Given the description of an element on the screen output the (x, y) to click on. 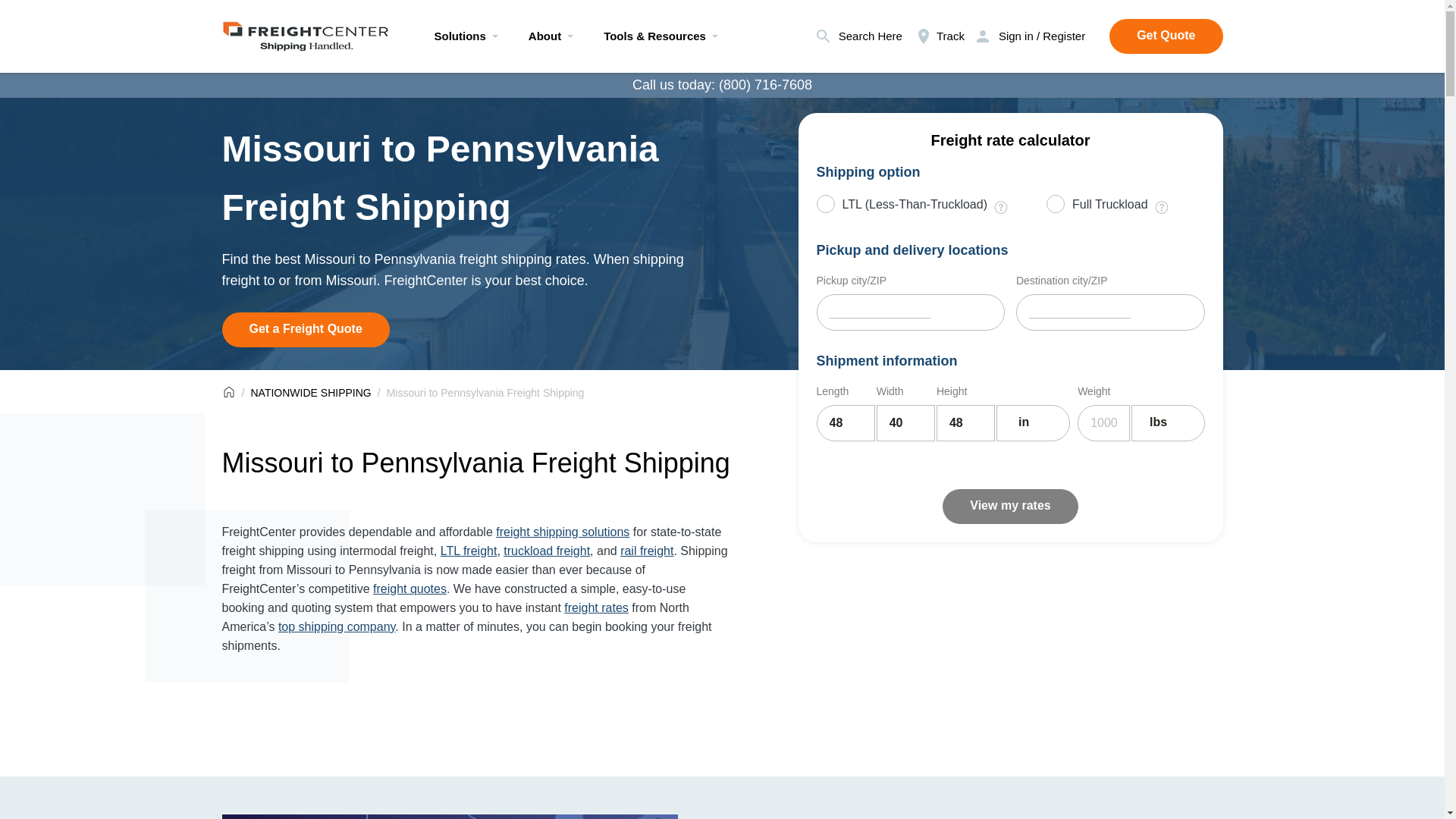
in (1032, 422)
Track (938, 36)
View my rates (1009, 506)
48 (845, 422)
Get Quote (1166, 36)
48 (965, 422)
40 (905, 422)
Visit freightcenter.com (304, 31)
Get a Freight Quote (304, 329)
lbs (1168, 422)
